Given the description of an element on the screen output the (x, y) to click on. 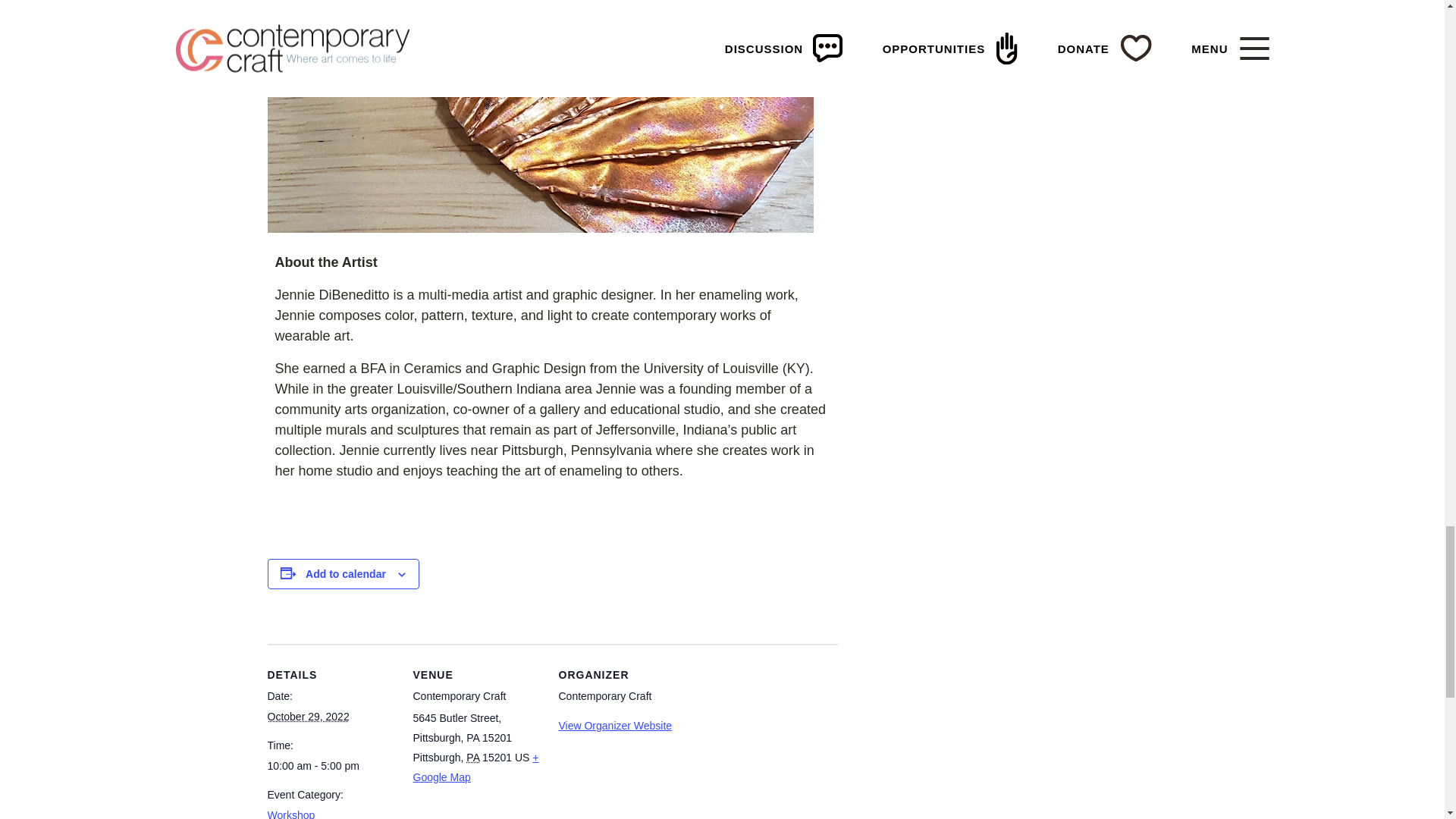
2022-10-29 (330, 765)
Click to view a Google Map (475, 766)
2022-10-29 (307, 716)
Pennsylvania (472, 757)
